Given the description of an element on the screen output the (x, y) to click on. 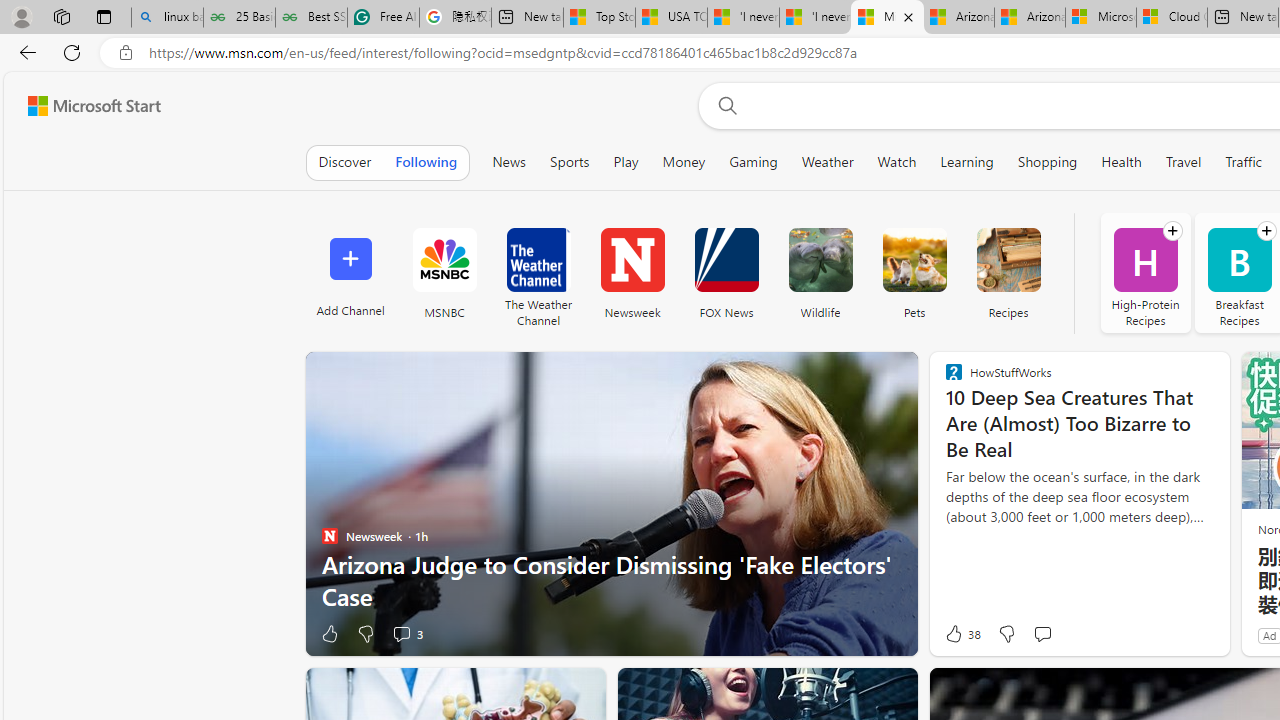
Health (1121, 162)
FOX News (725, 272)
USA TODAY - MSN (671, 17)
Top Stories - MSN (599, 17)
Wildlife (820, 272)
Traffic (1243, 161)
Web search (724, 105)
Learning (967, 162)
Recipes (1007, 260)
Money (684, 162)
Travel (1183, 162)
Add Channel (349, 272)
